Given the description of an element on the screen output the (x, y) to click on. 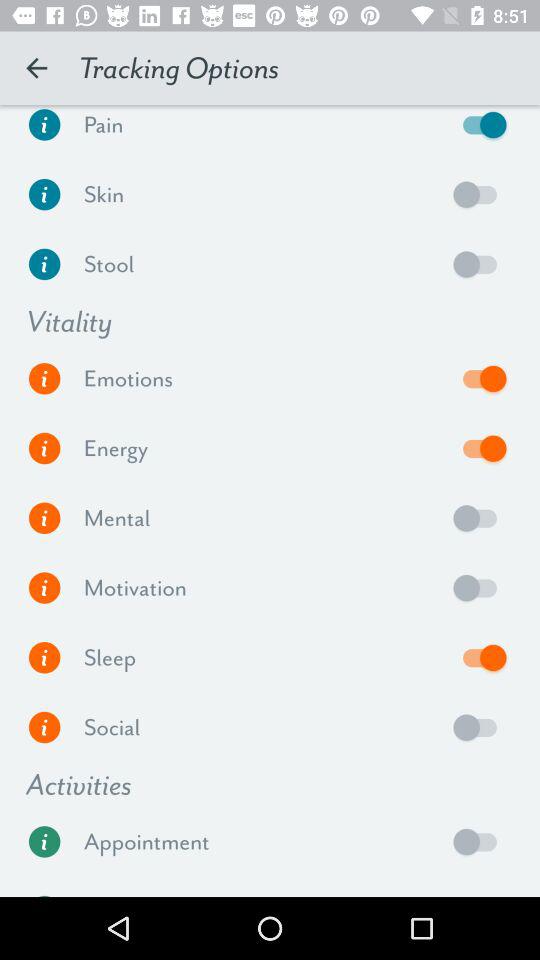
more information (44, 378)
